Given the description of an element on the screen output the (x, y) to click on. 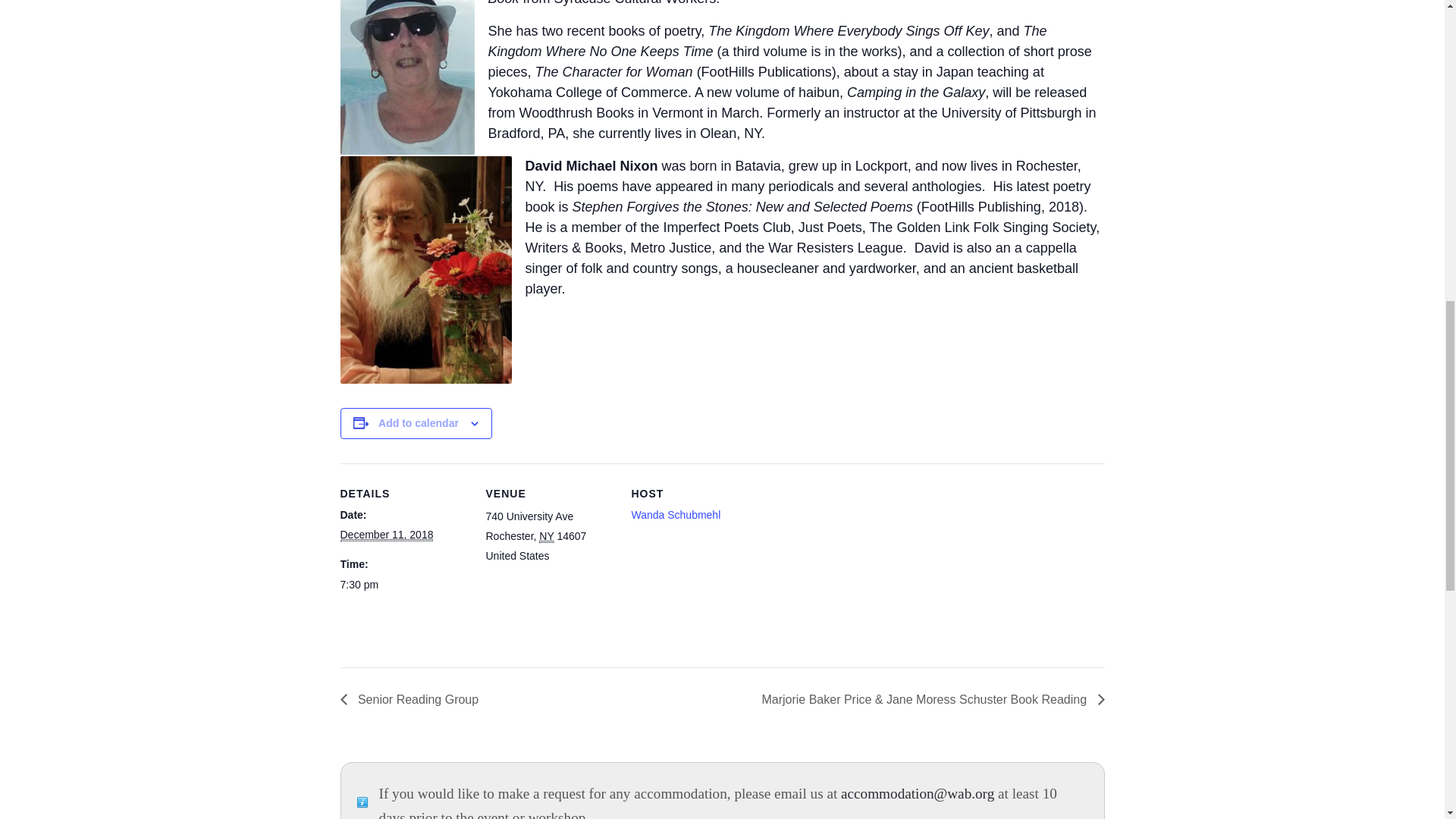
2018-12-11 (385, 534)
2018-12-11 (403, 584)
New York (545, 535)
